Given the description of an element on the screen output the (x, y) to click on. 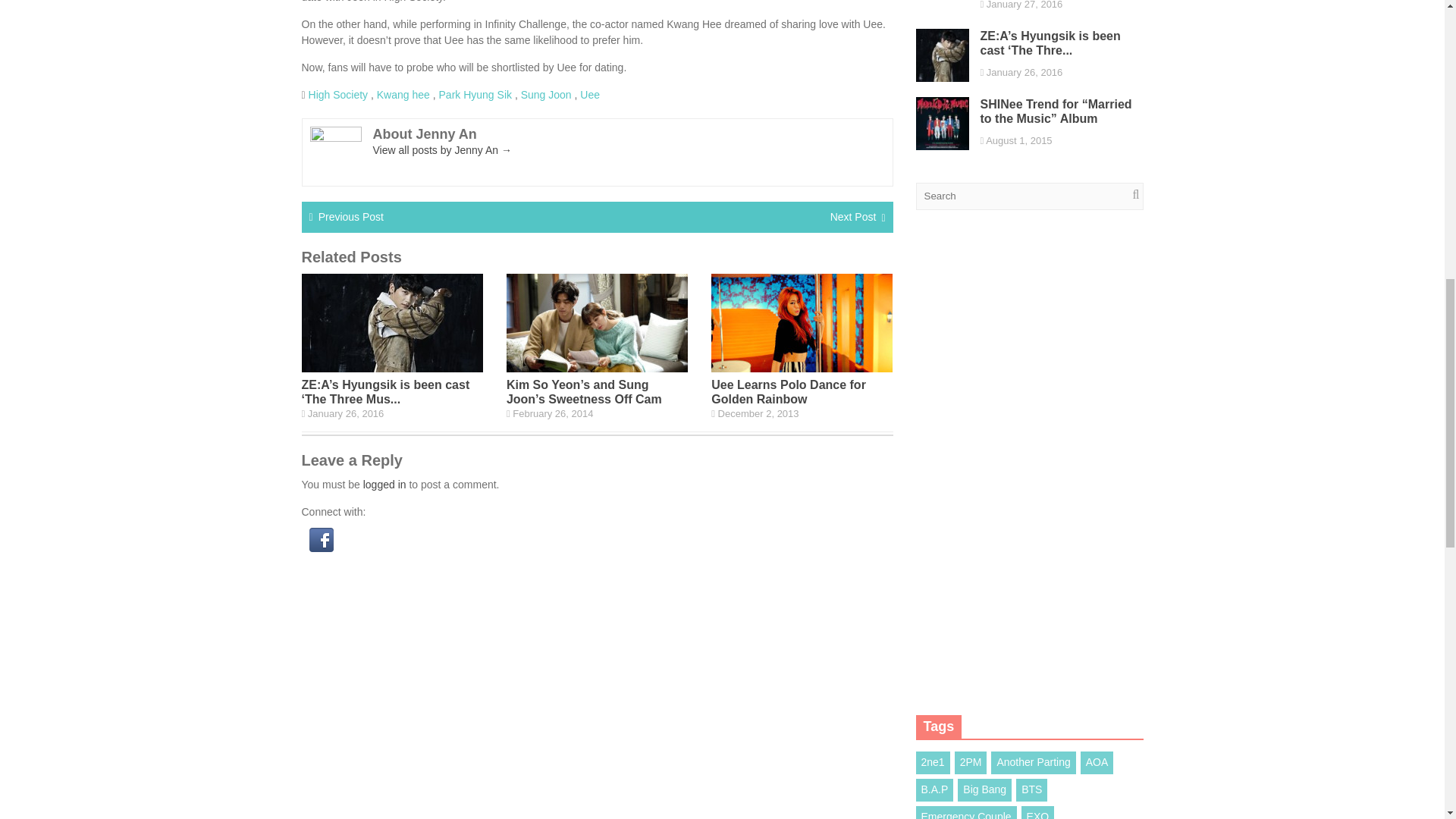
11 topics (1038, 812)
Connect with Facebook (320, 539)
5 topics (984, 789)
9 topics (932, 762)
Kwang hee (403, 93)
5 topics (1033, 762)
6 topics (1096, 762)
Connect with Facebook (320, 548)
6 topics (971, 762)
High Society (338, 93)
